Given the description of an element on the screen output the (x, y) to click on. 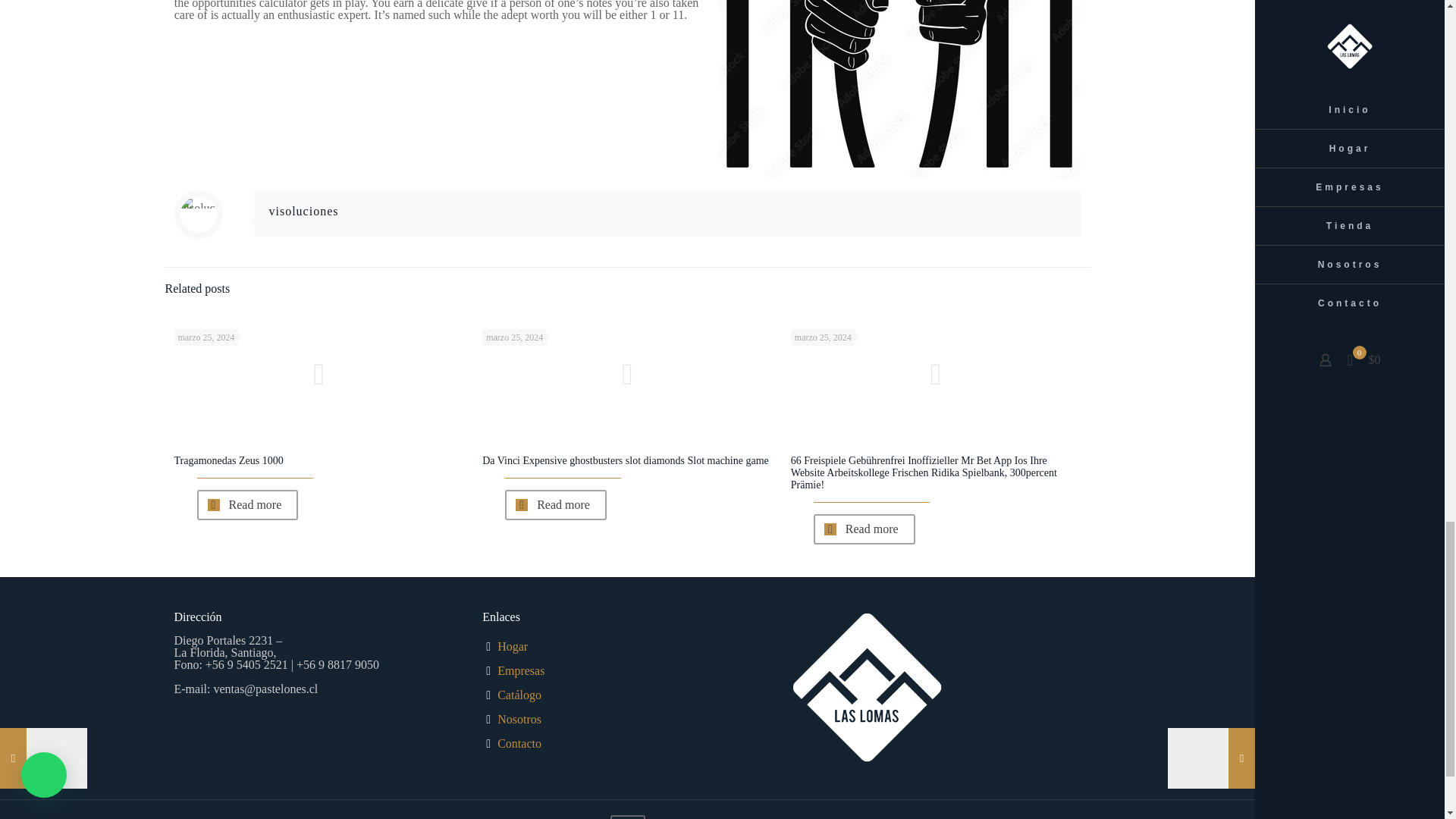
Read more (864, 529)
Read more (556, 504)
Tragamonedas Zeus 1000 (228, 460)
Nosotros (519, 718)
Read more (247, 504)
visoluciones (302, 210)
Contacto (519, 743)
Empresas (520, 670)
Hogar (512, 645)
